Given the description of an element on the screen output the (x, y) to click on. 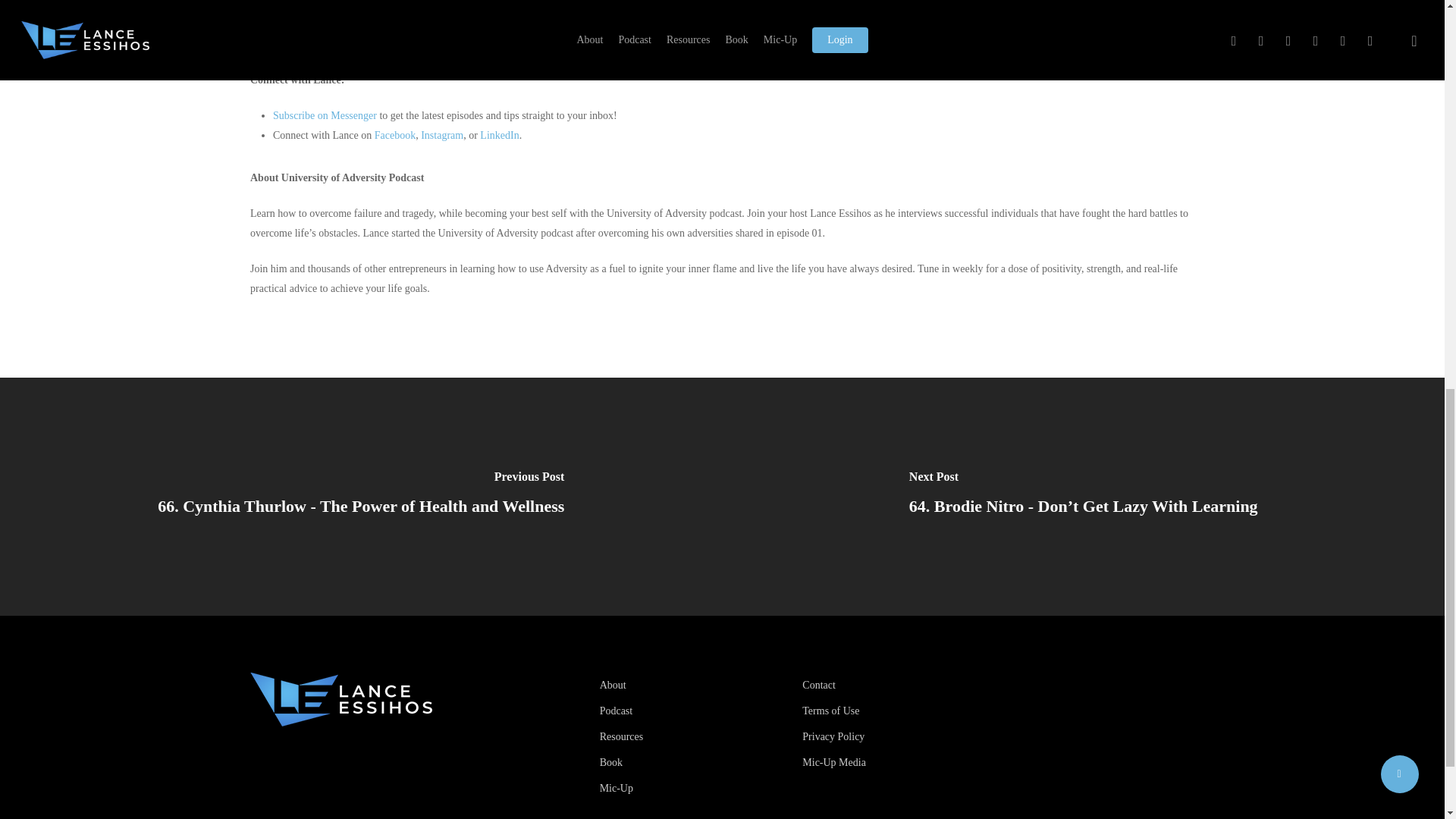
Mic-Up (691, 788)
Instagram (441, 134)
Terms of Use (894, 711)
Contact (894, 685)
website (327, 17)
Facebook (392, 134)
Book (691, 762)
About (691, 685)
LinkedIn (498, 134)
Podcast (691, 711)
